Given the description of an element on the screen output the (x, y) to click on. 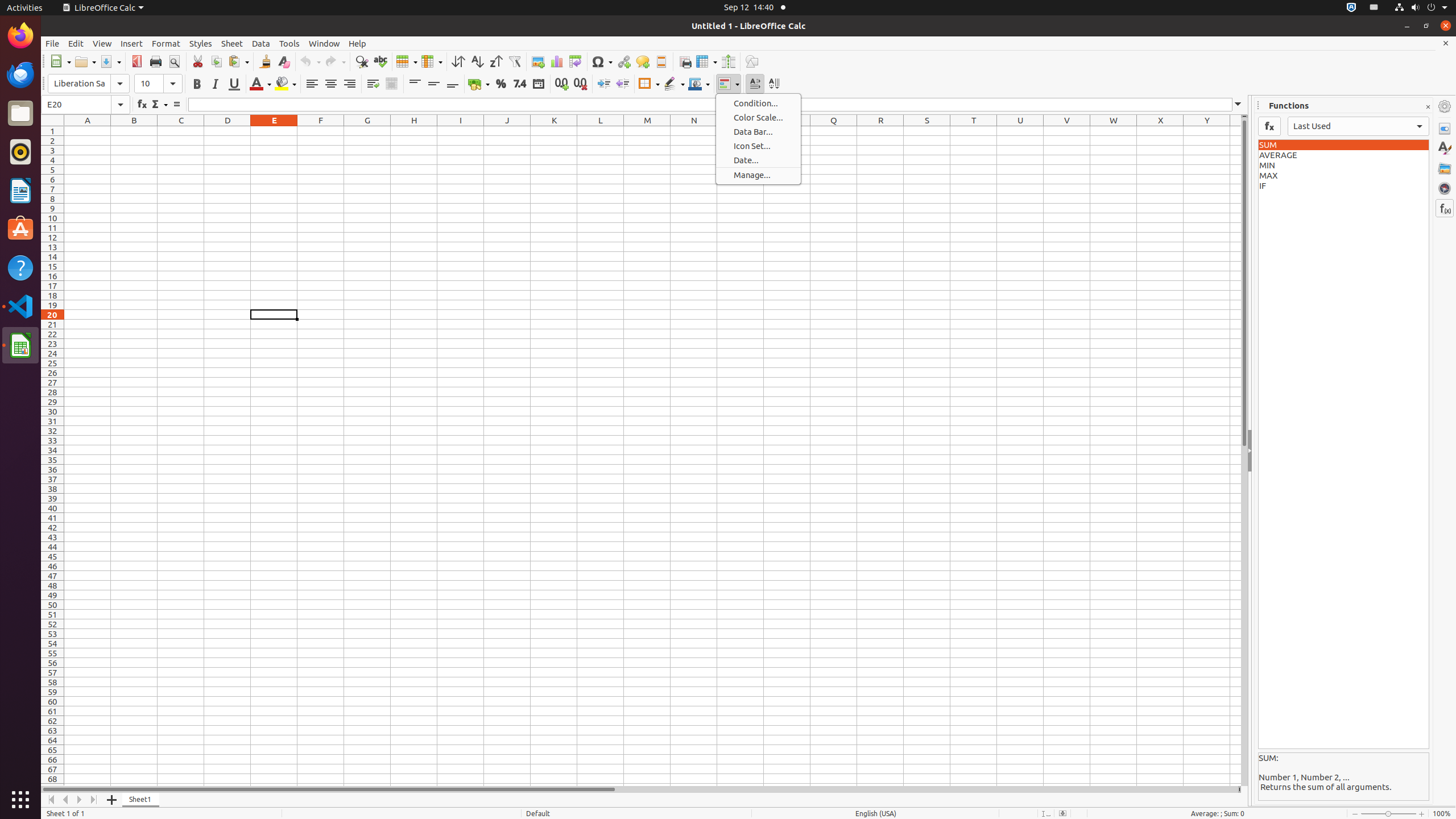
Show Applications Element type: toggle-button (20, 799)
Visual Studio Code Element type: push-button (20, 306)
Ubuntu Software Element type: push-button (20, 229)
Rhythmbox Element type: push-button (20, 151)
